Given the description of an element on the screen output the (x, y) to click on. 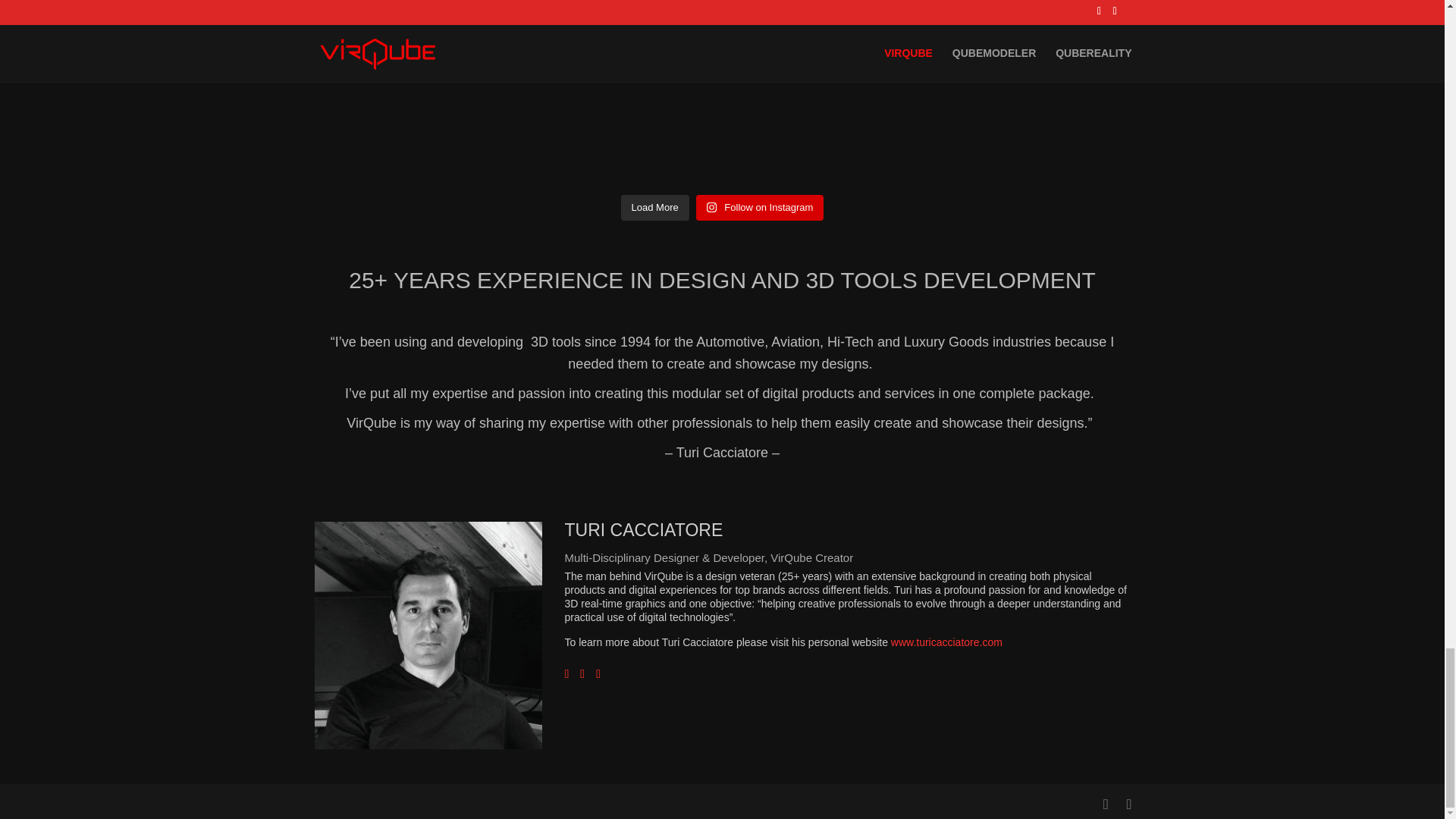
Load More (654, 207)
